Given the description of an element on the screen output the (x, y) to click on. 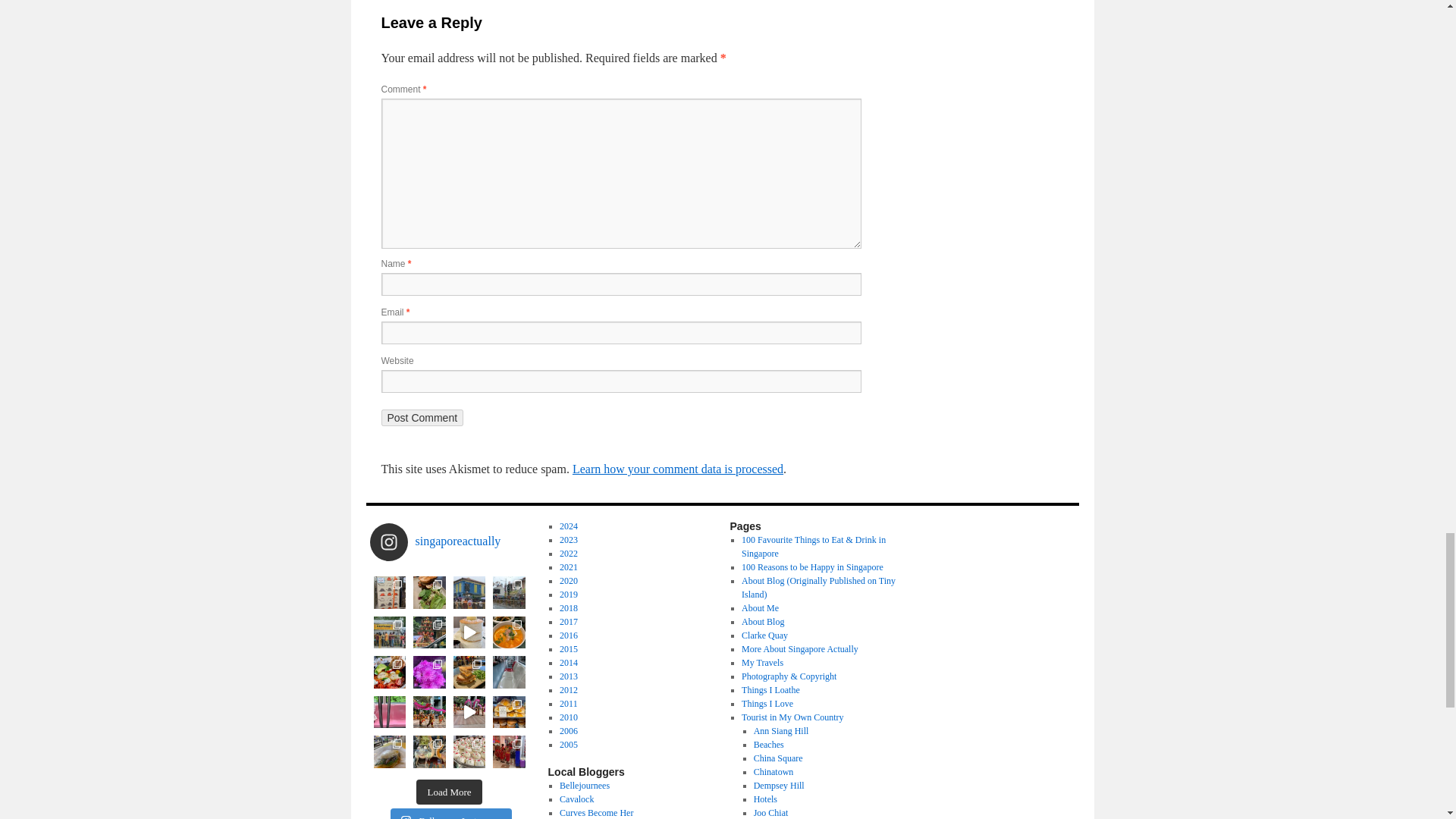
Post Comment (421, 417)
